Given the description of an element on the screen output the (x, y) to click on. 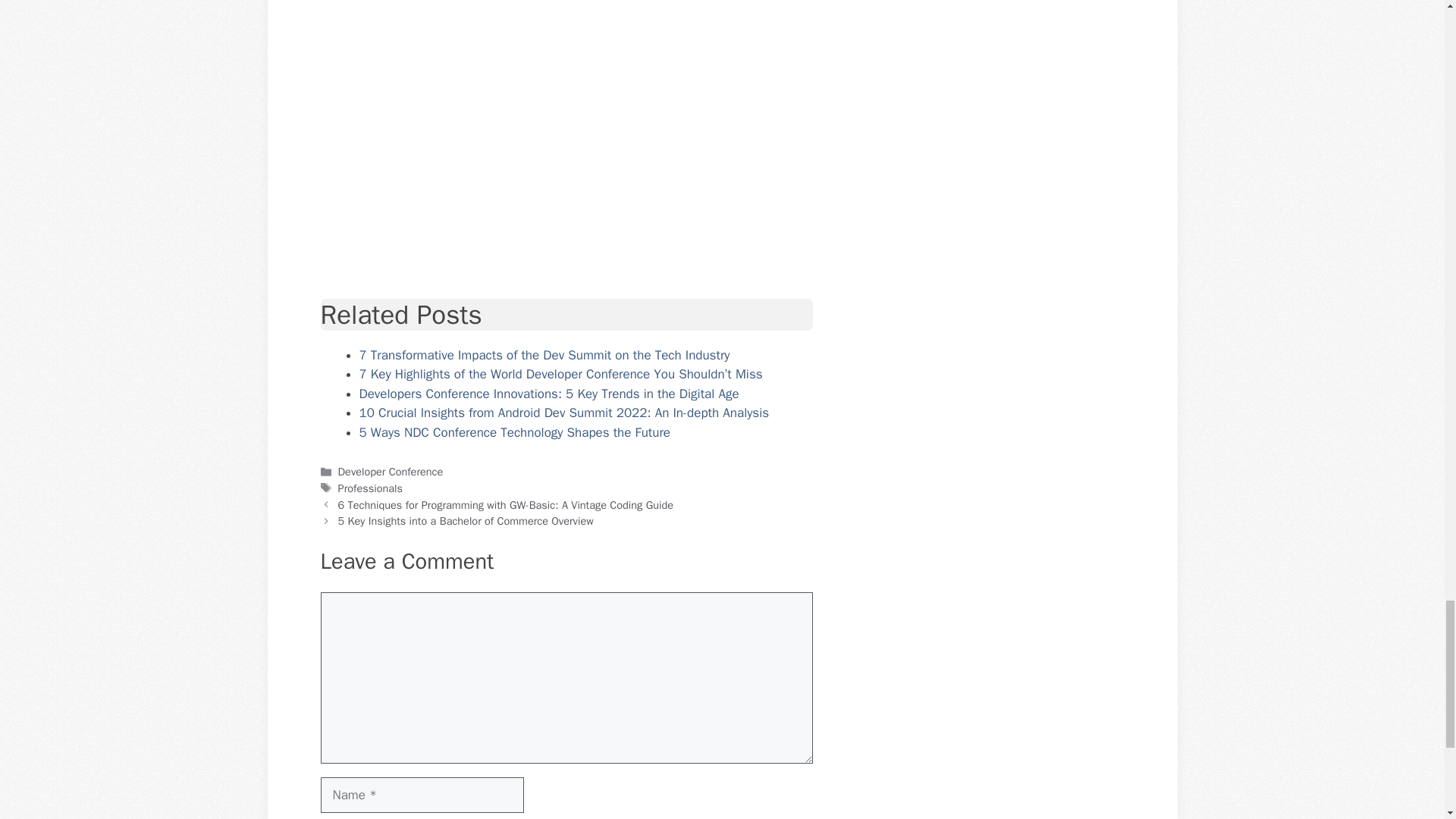
5 Key Insights into a Bachelor of Commerce Overview (465, 520)
Developer Conference (390, 471)
Professionals (370, 488)
5 Ways NDC Conference Technology Shapes the Future (515, 432)
